Given the description of an element on the screen output the (x, y) to click on. 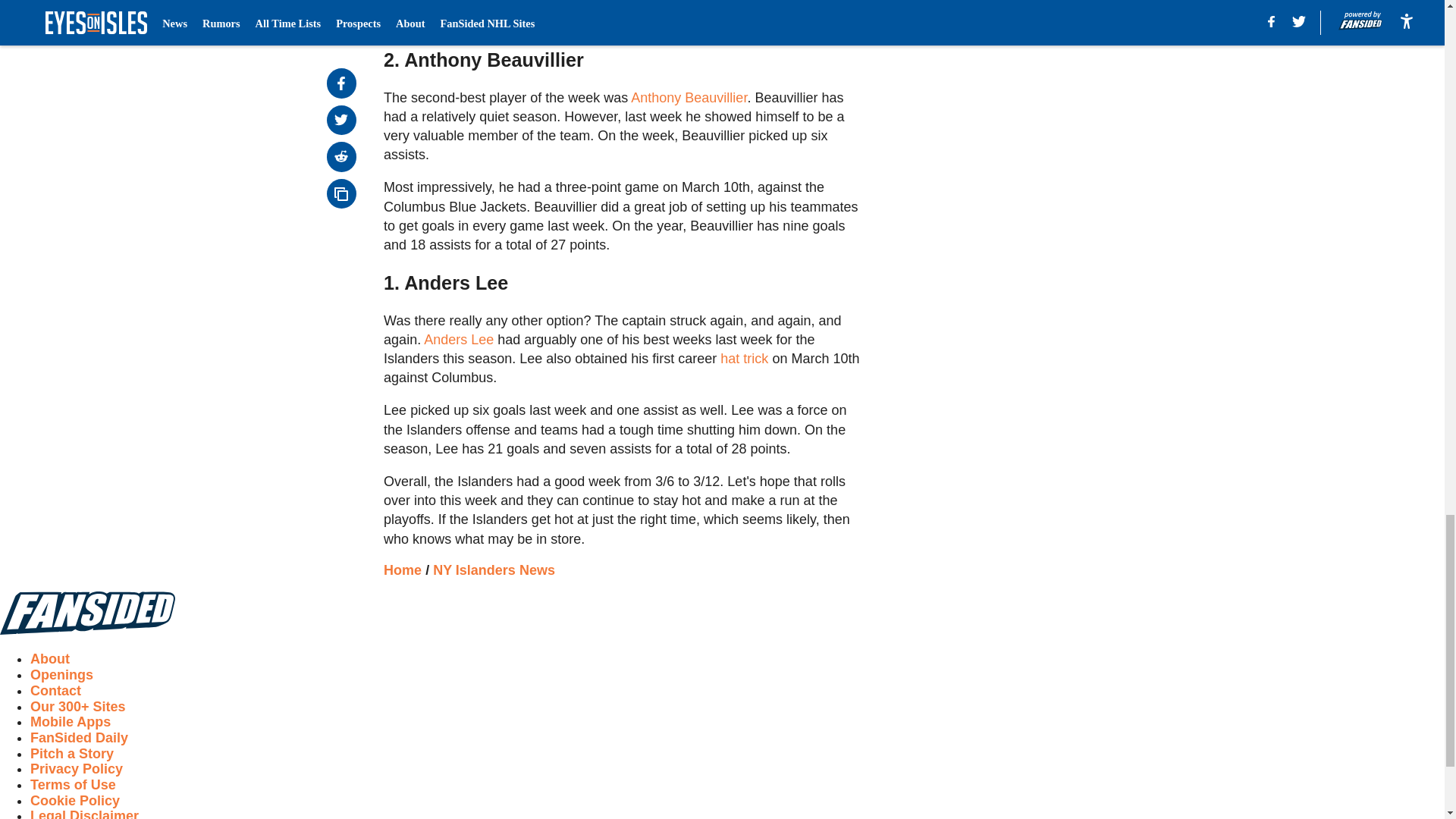
Anders Lee (458, 339)
Contact (55, 690)
NY Islanders News (493, 570)
Mobile Apps (70, 721)
hat trick (744, 358)
FanSided Daily (79, 737)
Openings (61, 674)
Anthony Beauvillier (688, 97)
Home (403, 570)
About (49, 658)
